Given the description of an element on the screen output the (x, y) to click on. 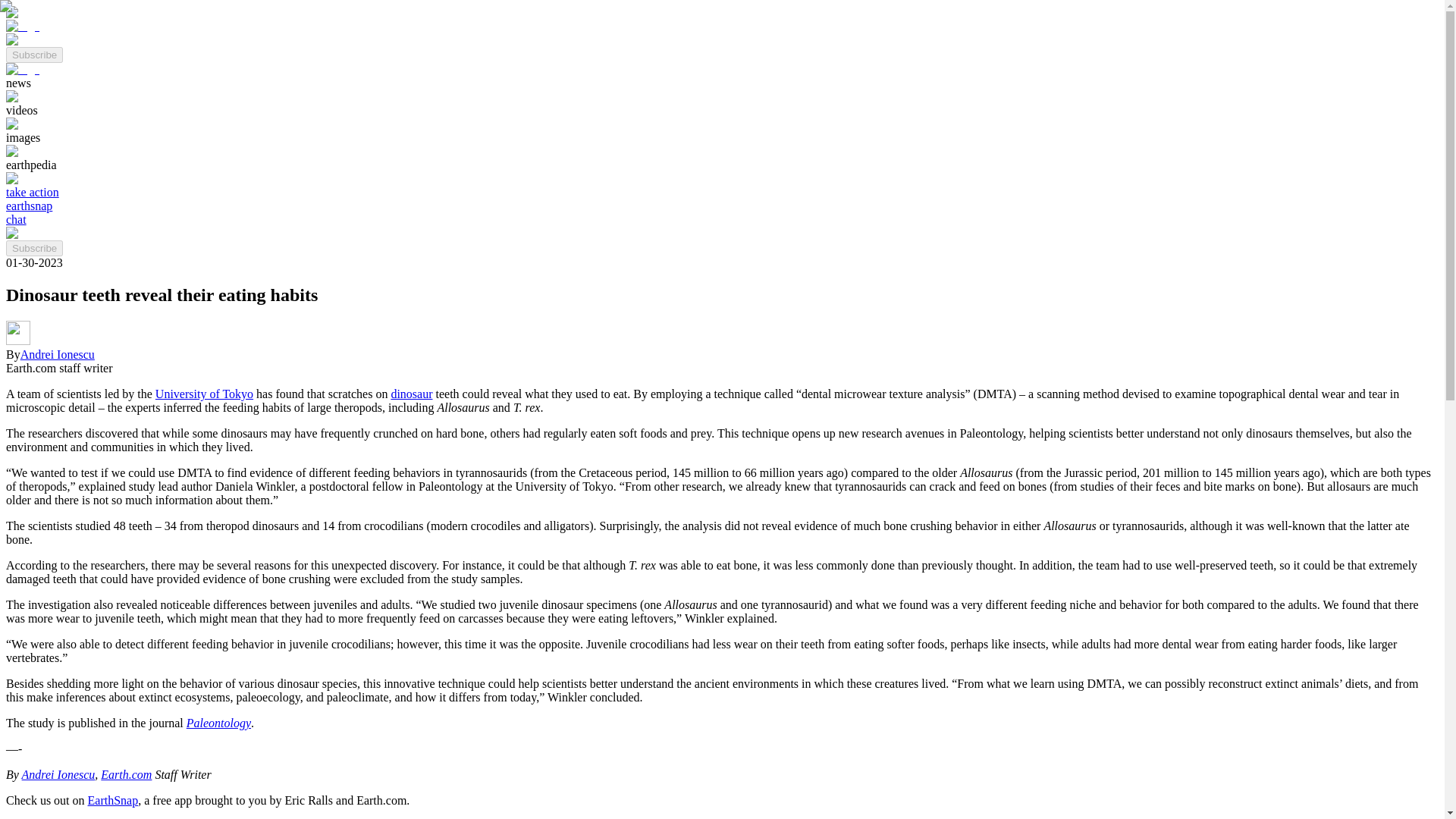
Subscribe (33, 248)
Subscribe (33, 246)
dinosaur (411, 393)
EarthSnap (112, 799)
earthsnap (28, 205)
University of Tokyo (204, 393)
take action (32, 192)
Subscribe (33, 54)
Paleontology (218, 722)
Subscribe (33, 53)
Earth.com (125, 774)
Andrei Ionescu (57, 354)
Andrei Ionescu (58, 774)
chat (15, 219)
